Given the description of an element on the screen output the (x, y) to click on. 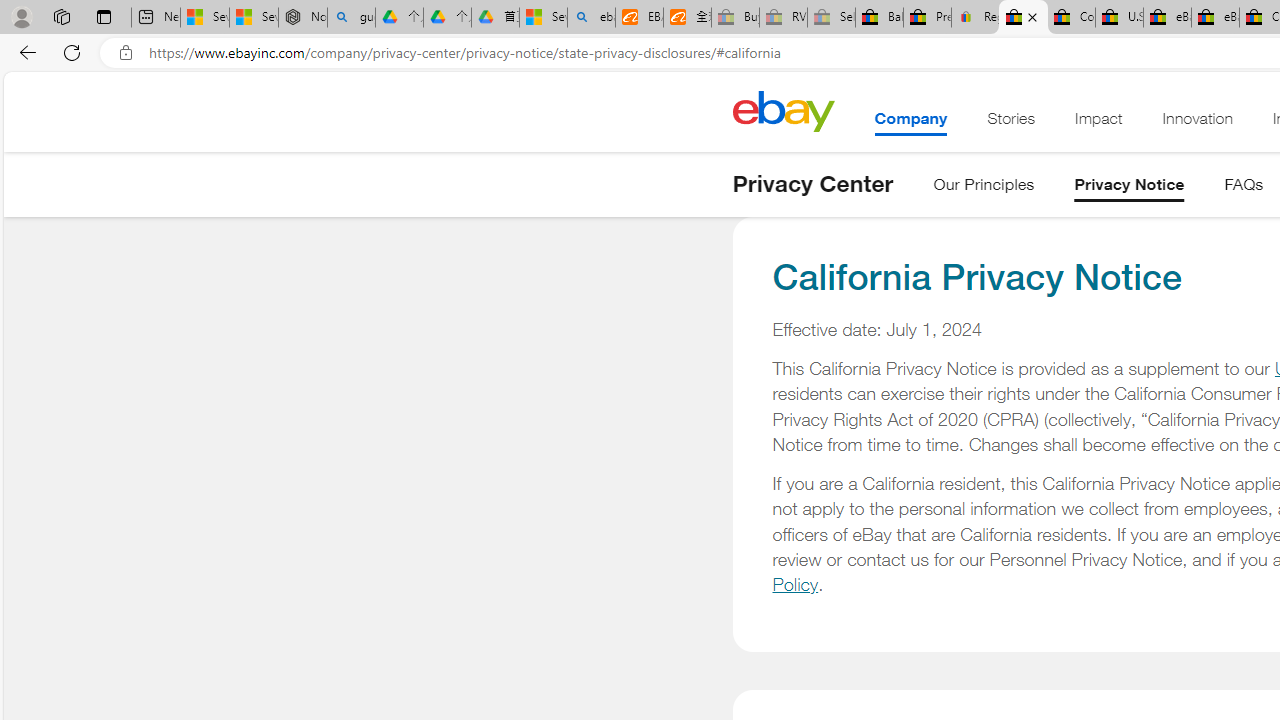
Buy Auto Parts & Accessories | eBay - Sleeping (735, 17)
Register: Create a personal eBay account (975, 17)
U.S. State Privacy Disclosures - eBay Inc. (1119, 17)
eBay Inc. Reports Third Quarter 2023 Results (1215, 17)
Privacy Notice (1129, 188)
Our Principles (984, 188)
